Given the description of an element on the screen output the (x, y) to click on. 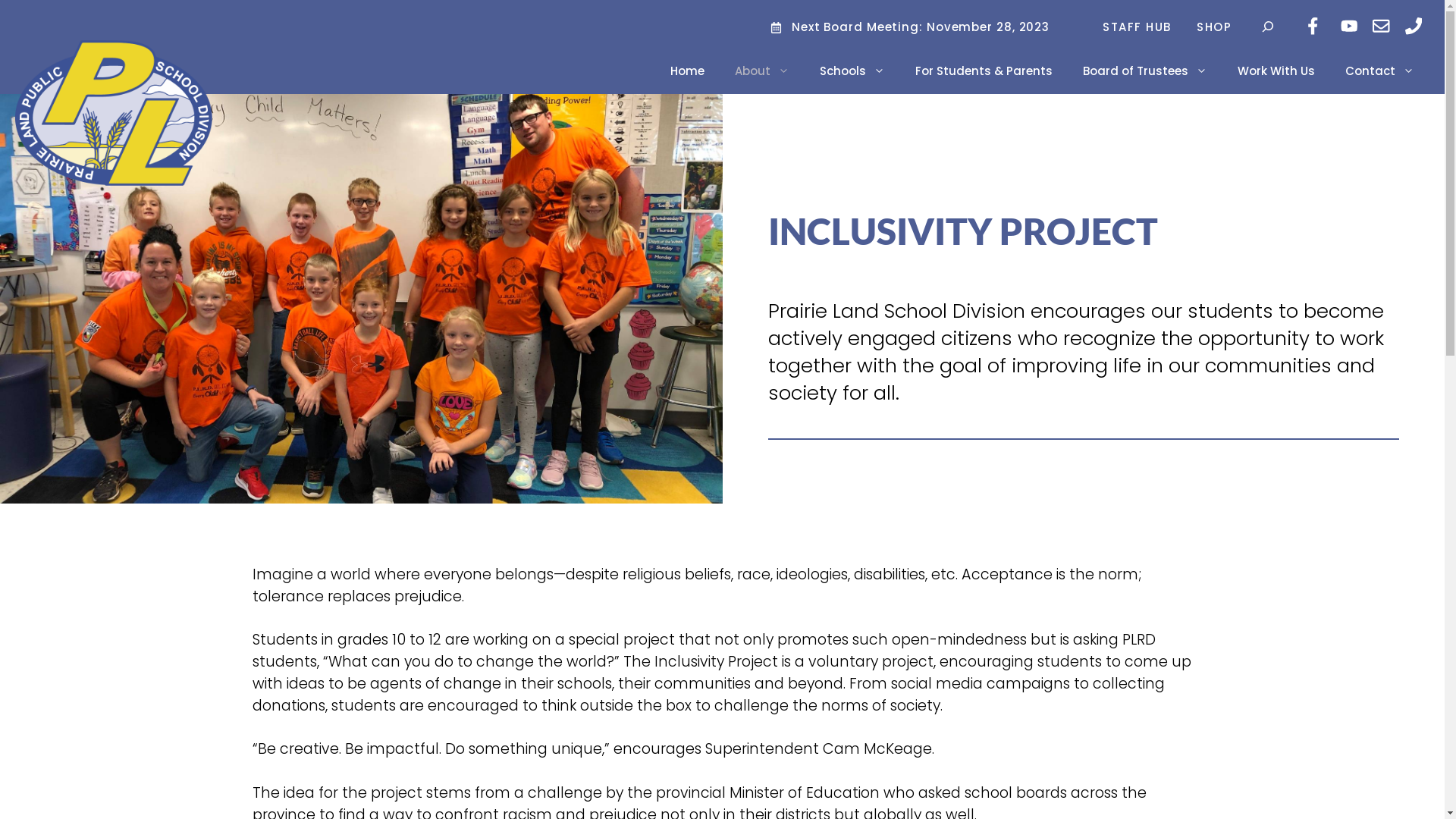
Next Board Meeting: November 28, 2023 Element type: text (925, 25)
Contact Element type: text (1379, 71)
Board of Trustees Element type: text (1144, 71)
Work With Us Element type: text (1276, 71)
SHOP Element type: text (1215, 25)
For Students & Parents Element type: text (983, 71)
Home Element type: text (687, 71)
STAFF HUB Element type: text (1139, 25)
About Element type: text (761, 71)
Schools Element type: text (852, 71)
